Given the description of an element on the screen output the (x, y) to click on. 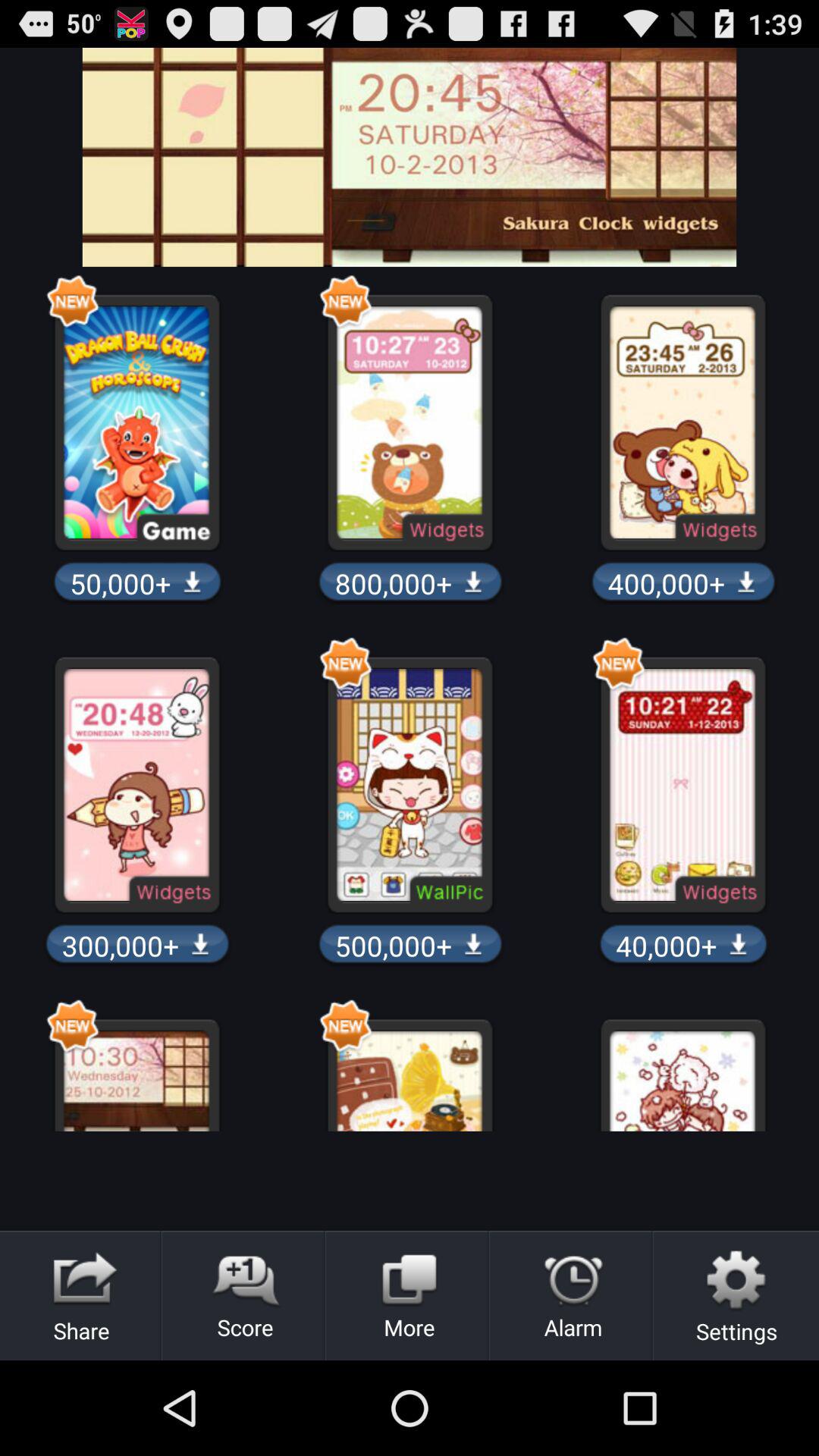
choose to clock widgets (409, 156)
